Given the description of an element on the screen output the (x, y) to click on. 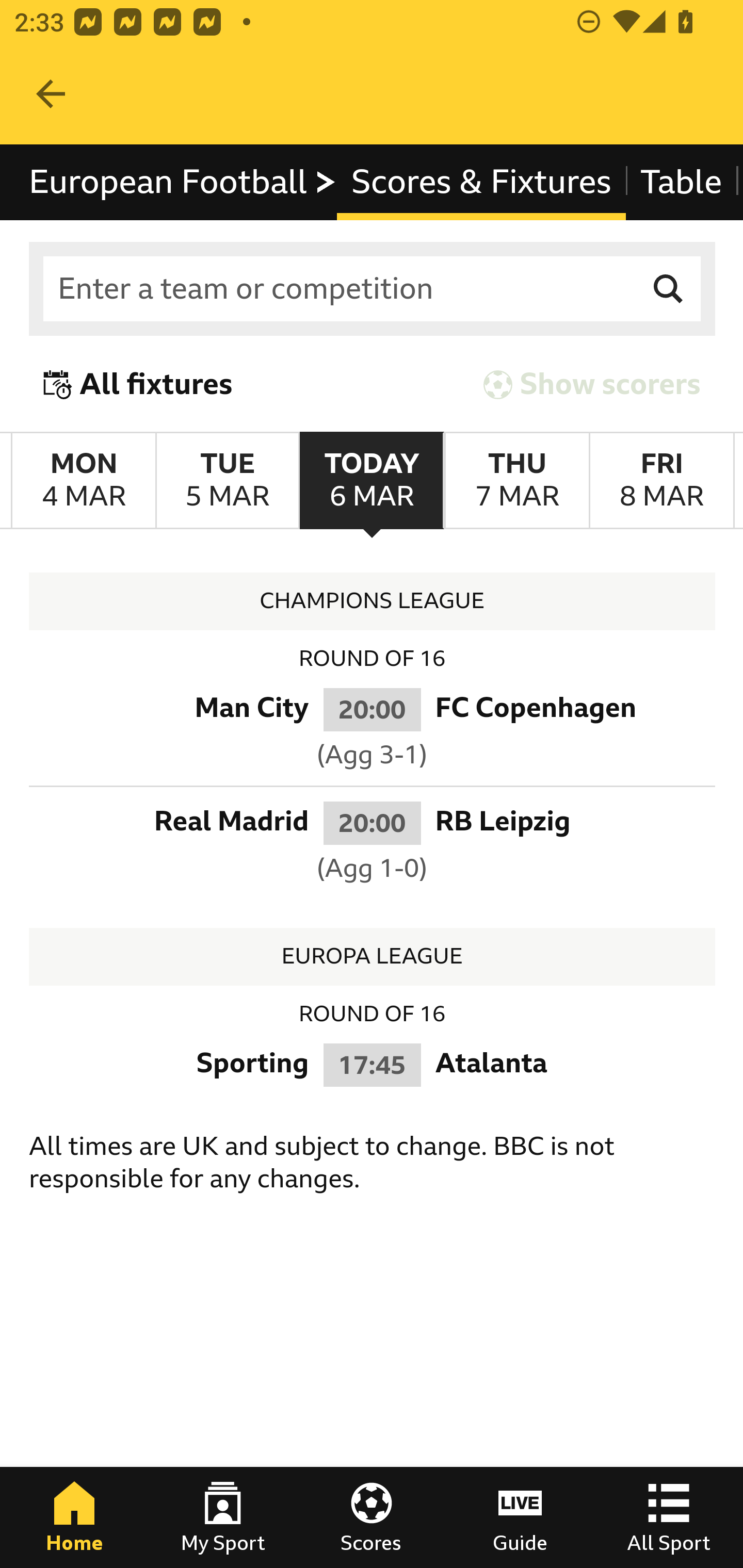
Navigate up (50, 93)
European Football  (182, 181)
Scores & Fixtures (480, 181)
Table (681, 181)
Search (669, 289)
All fixtures (137, 383)
Show scorers (591, 383)
MondayMarch 4th Monday March 4th (83, 480)
TuesdayMarch 5th Tuesday March 5th (227, 480)
ThursdayMarch 7th Thursday March 7th (516, 480)
FridayMarch 8th Friday March 8th (661, 480)
My Sport (222, 1517)
Scores (371, 1517)
Guide (519, 1517)
All Sport (668, 1517)
